Given the description of an element on the screen output the (x, y) to click on. 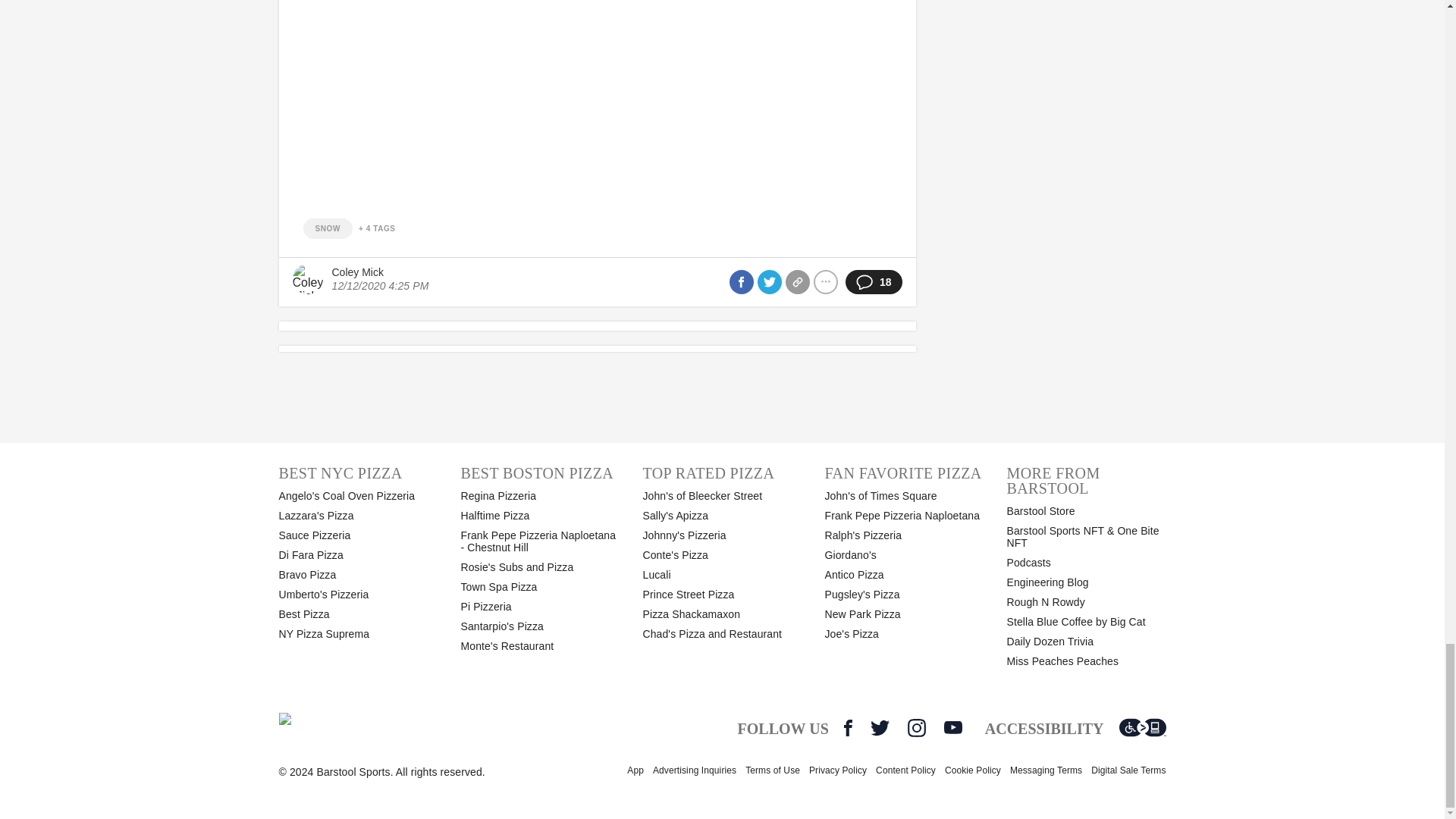
YouTube Icon (952, 727)
Facebook Icon (847, 728)
Twitter Icon (879, 728)
Level Access website accessibility icon (1142, 727)
Instagram Icon (916, 728)
